Given the description of an element on the screen output the (x, y) to click on. 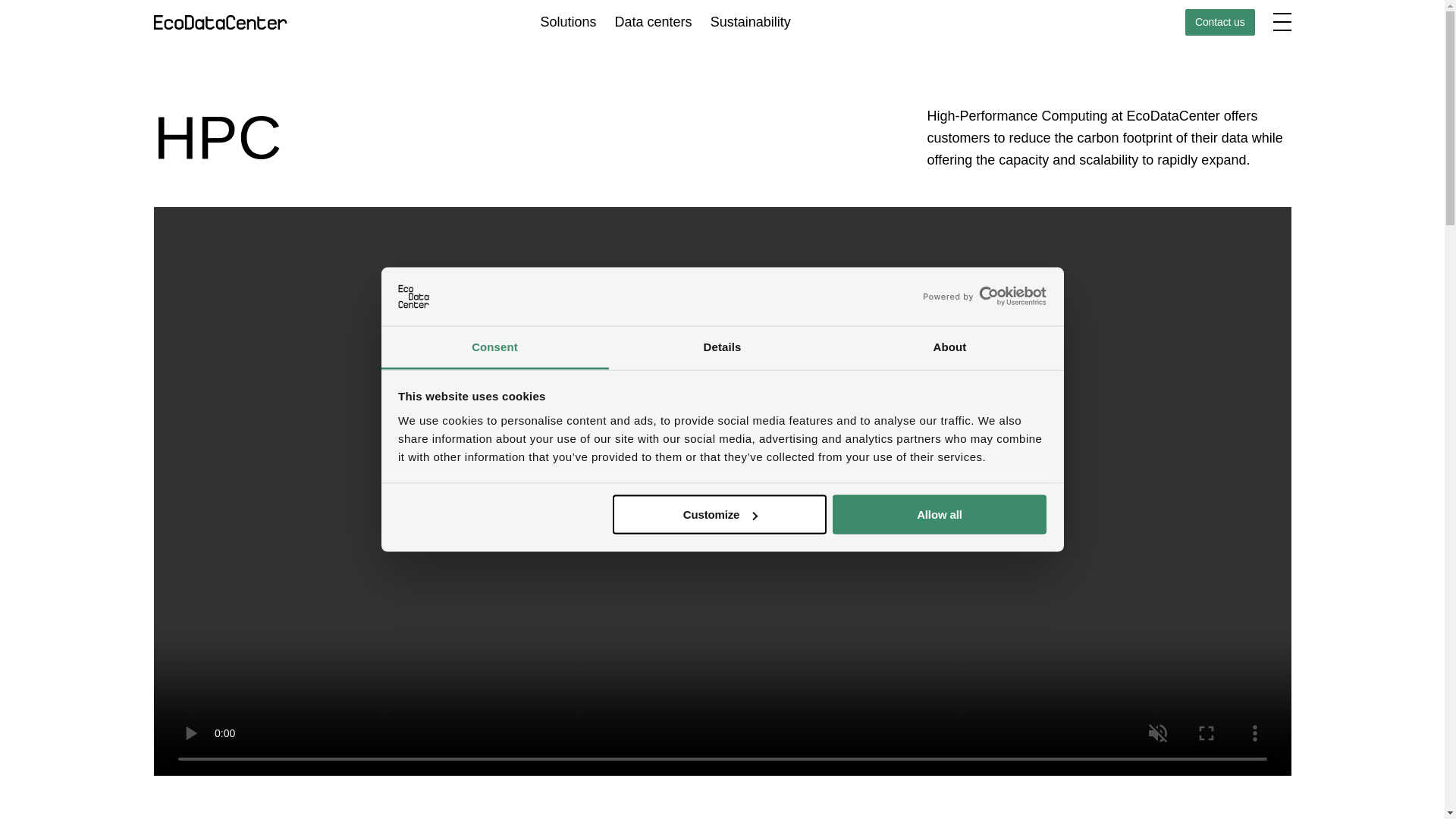
Consent (494, 347)
EcoDataCenter (224, 22)
Details (721, 347)
About (948, 347)
